Given the description of an element on the screen output the (x, y) to click on. 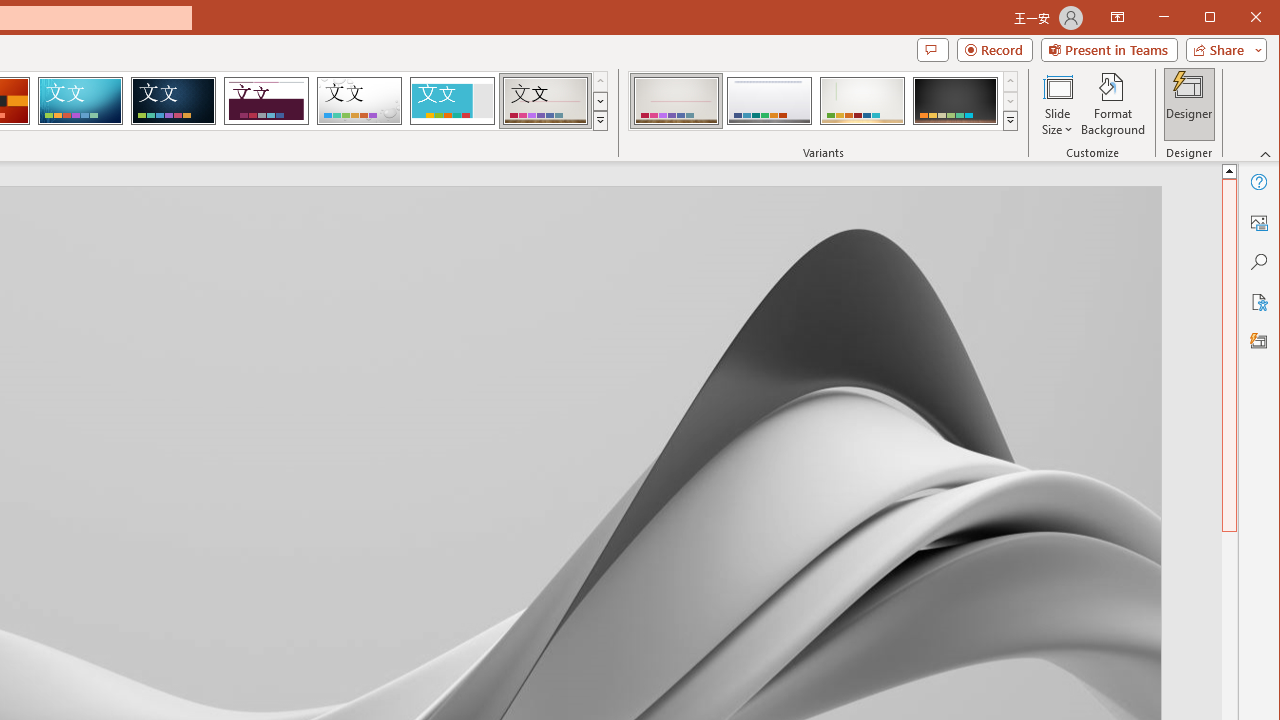
Variants (1010, 120)
Gallery Variant 3 (862, 100)
Format Background (1113, 104)
AutomationID: ThemeVariantsGallery (824, 101)
Slide Size (1057, 104)
Droplet (359, 100)
Circuit (80, 100)
